Given the description of an element on the screen output the (x, y) to click on. 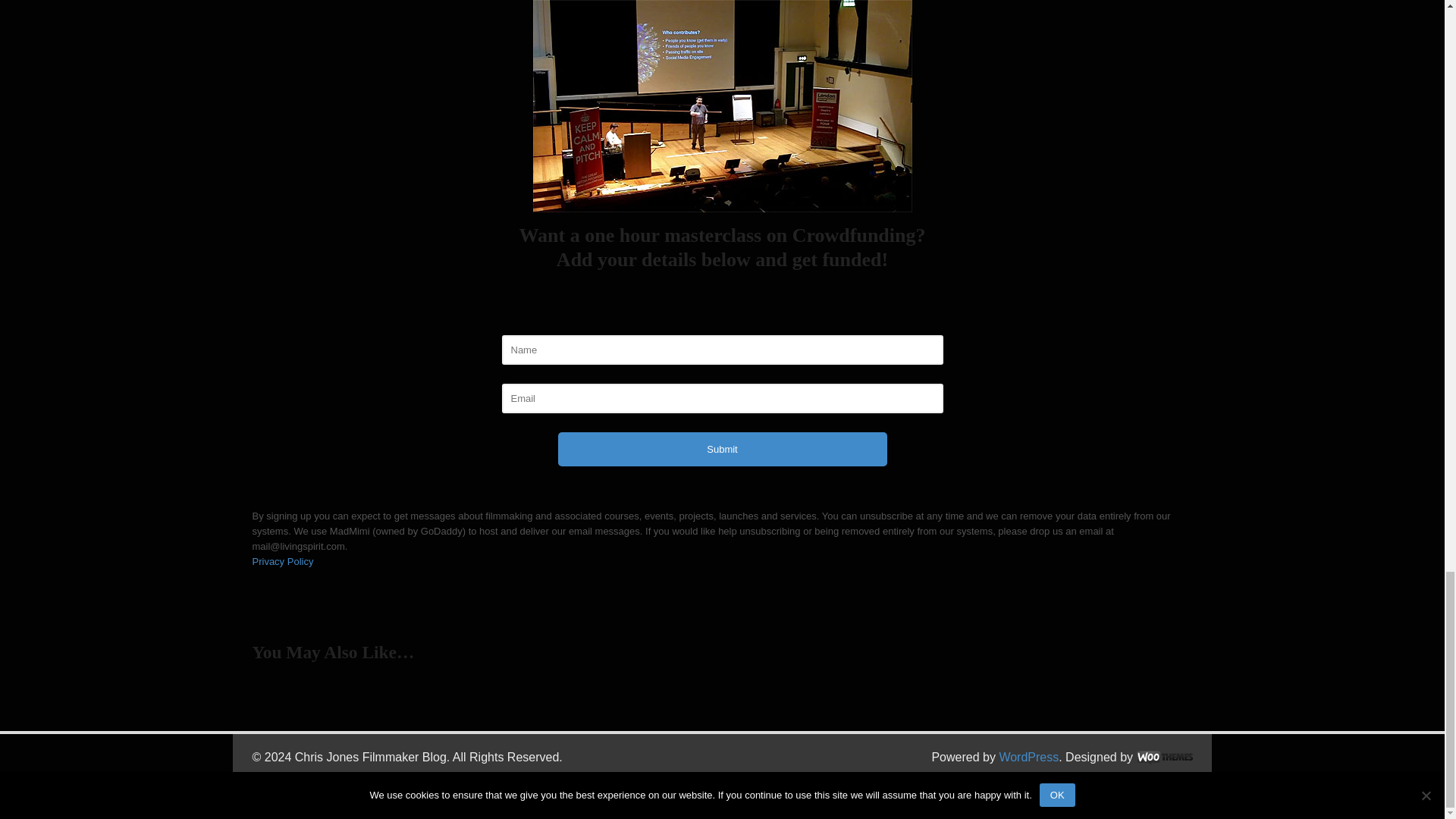
Privacy Policy (282, 561)
WordPress (1028, 757)
